Given the description of an element on the screen output the (x, y) to click on. 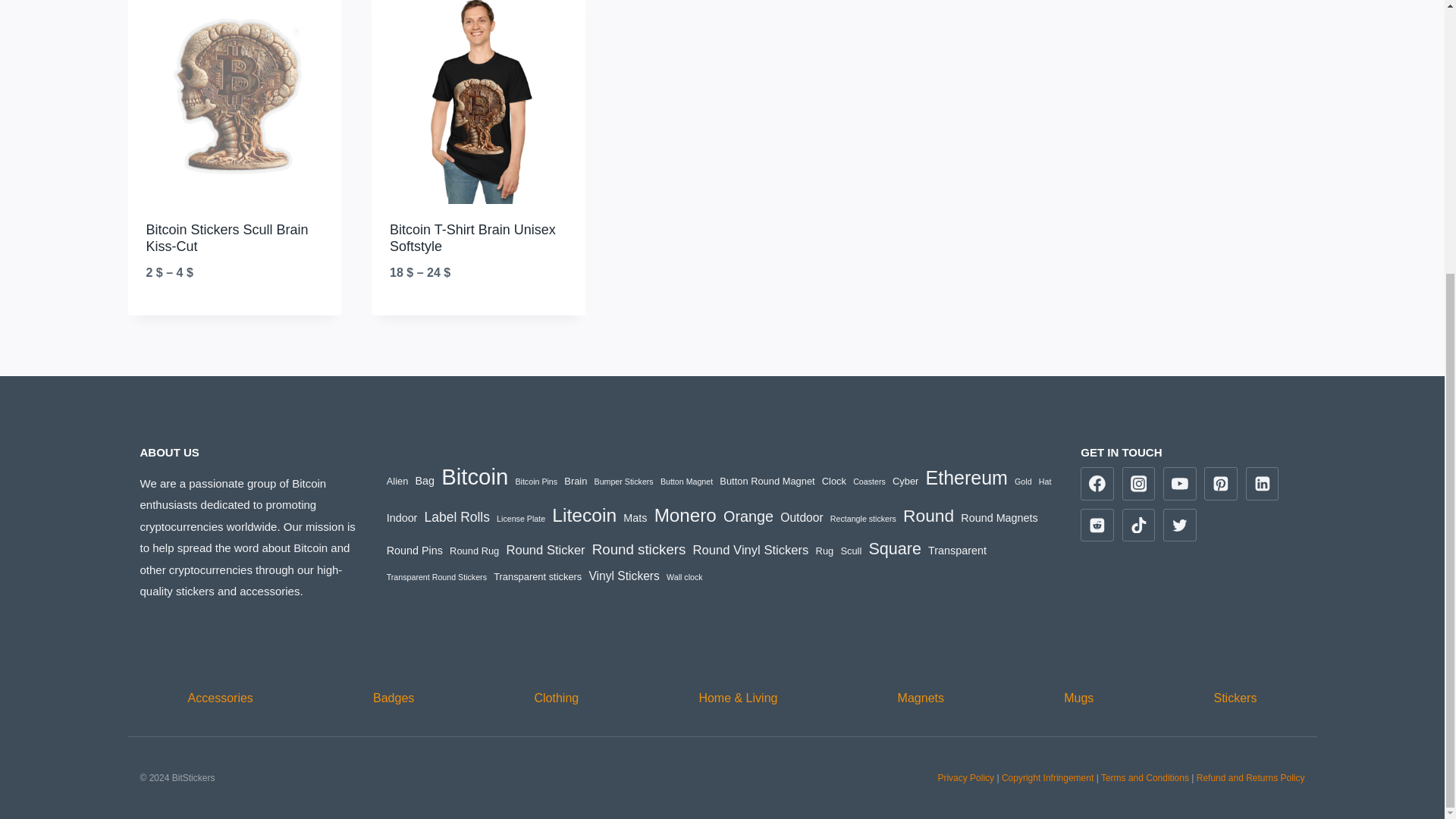
Bitcoin T-Shirt Brain Unisex Softstyle (473, 237)
Bitcoin Pins (536, 481)
Button Round Magnet (766, 481)
Brain (575, 481)
Bitcoin Stickers Scull Brain Kiss-Cut (226, 237)
Bitcoin (474, 476)
Coasters (869, 481)
Bag (424, 480)
Button Magnet (687, 481)
Bumper Stickers (623, 481)
Alien (398, 481)
Clock (833, 481)
